Given the description of an element on the screen output the (x, y) to click on. 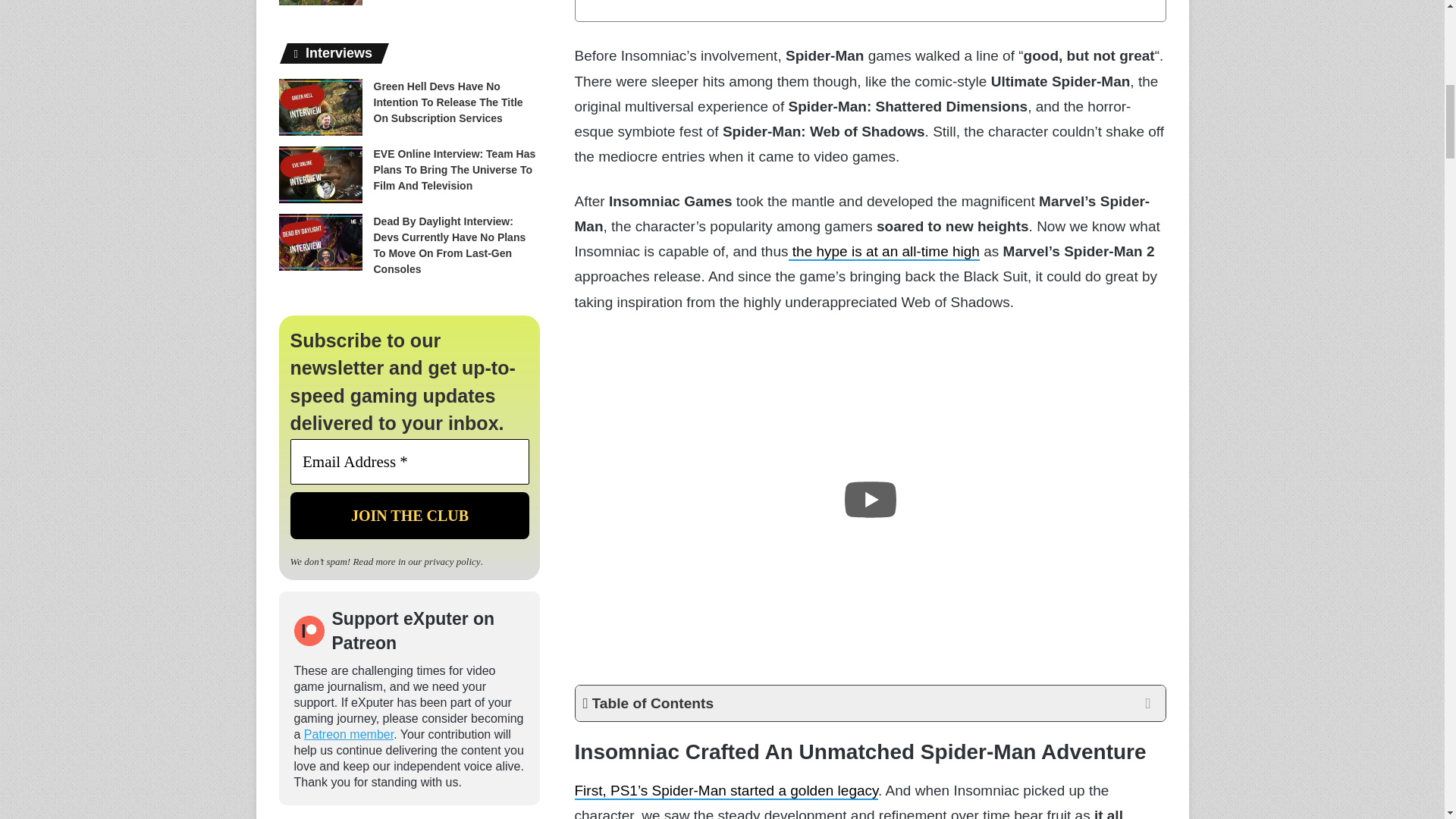
JOIN THE  CLUB (408, 515)
Email Address (408, 461)
